Given the description of an element on the screen output the (x, y) to click on. 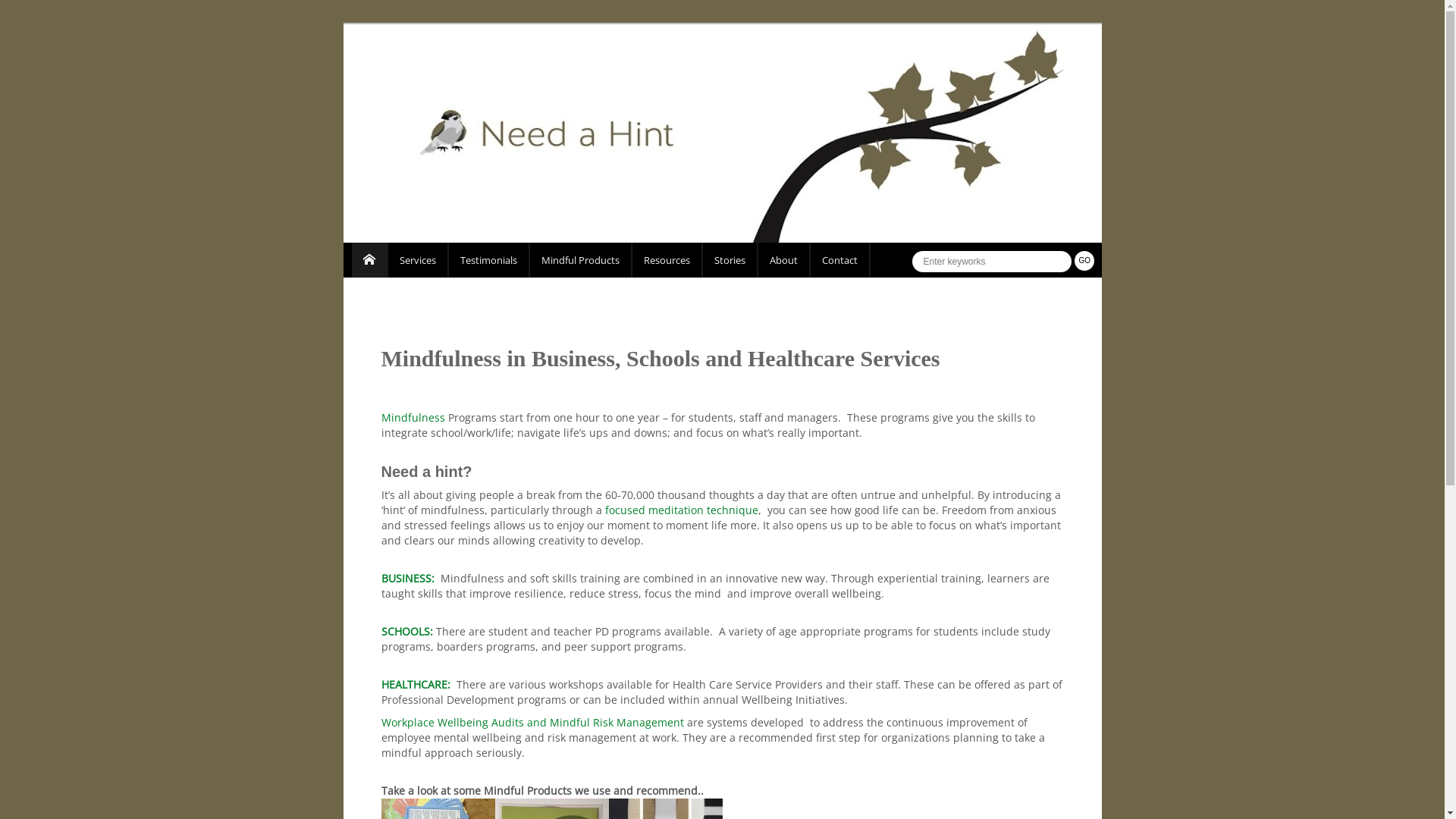
Testimonials Element type: text (489, 259)
Services Element type: text (418, 259)
Contact Element type: text (839, 259)
Mindful Products Element type: text (580, 259)
About Element type: text (784, 259)
focused meditation technique Element type: text (681, 509)
Go Element type: text (1083, 260)
HEALTHCARE:  Element type: text (417, 684)
Workplace Wellbeing Audits and Mindful Risk Management Element type: text (531, 722)
Mindfulness Element type: text (412, 417)
Resources Element type: text (667, 259)
SCHOOLS: Element type: text (406, 631)
Stories Element type: text (729, 259)
BUSINESS: Element type: text (406, 578)
